Given the description of an element on the screen output the (x, y) to click on. 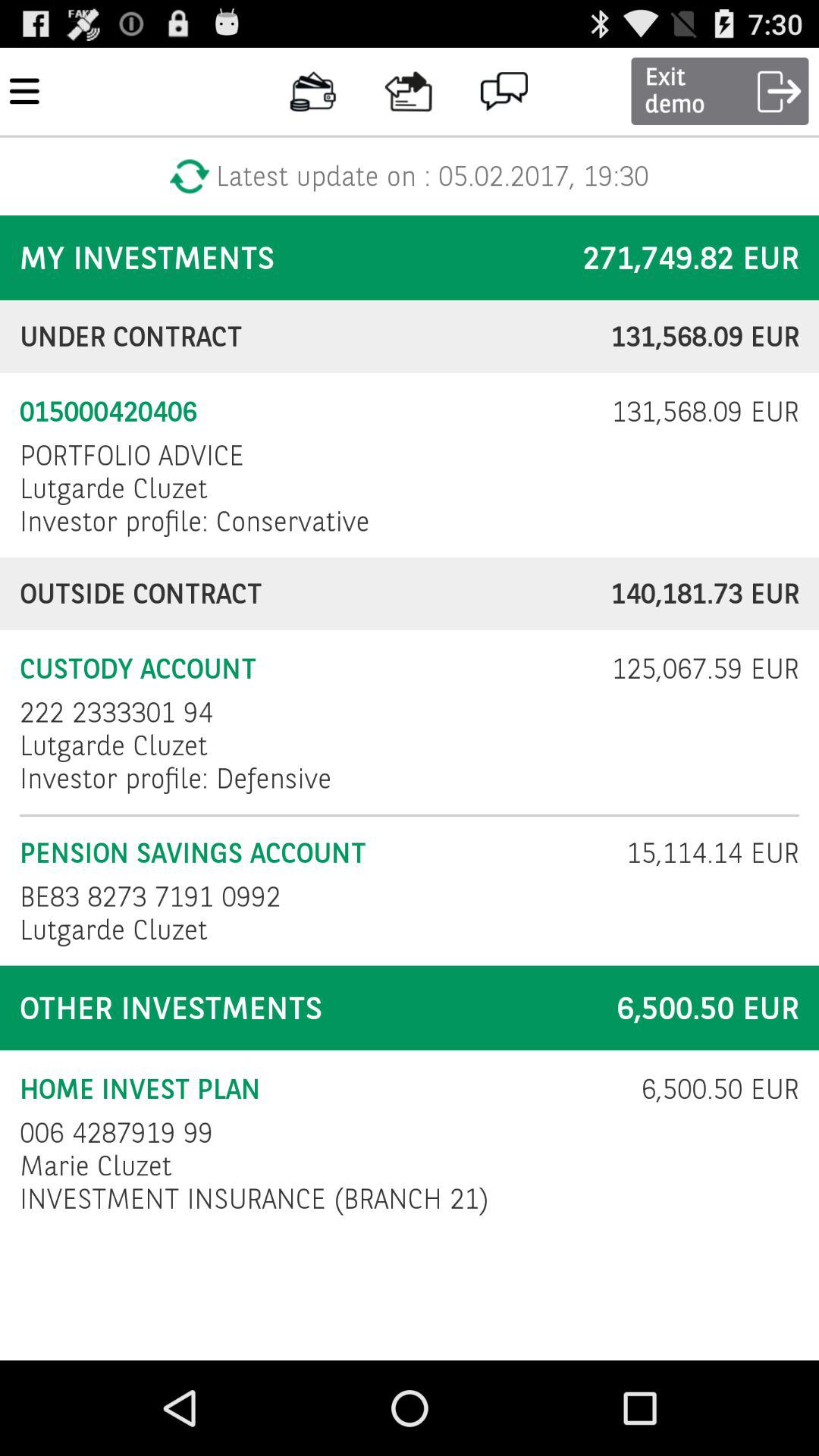
choose 271 749 82 icon (691, 257)
